Given the description of an element on the screen output the (x, y) to click on. 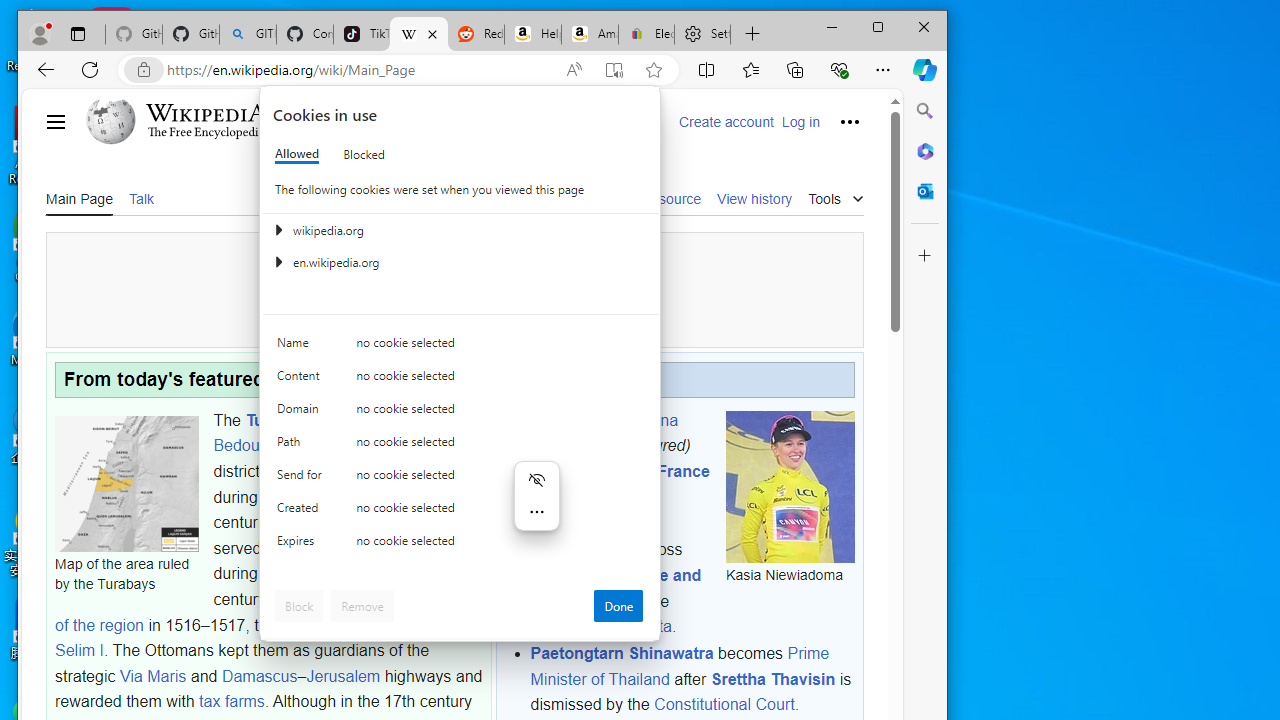
Remove (362, 605)
Send for (302, 479)
Name (302, 346)
Blocked (363, 153)
